Given the description of an element on the screen output the (x, y) to click on. 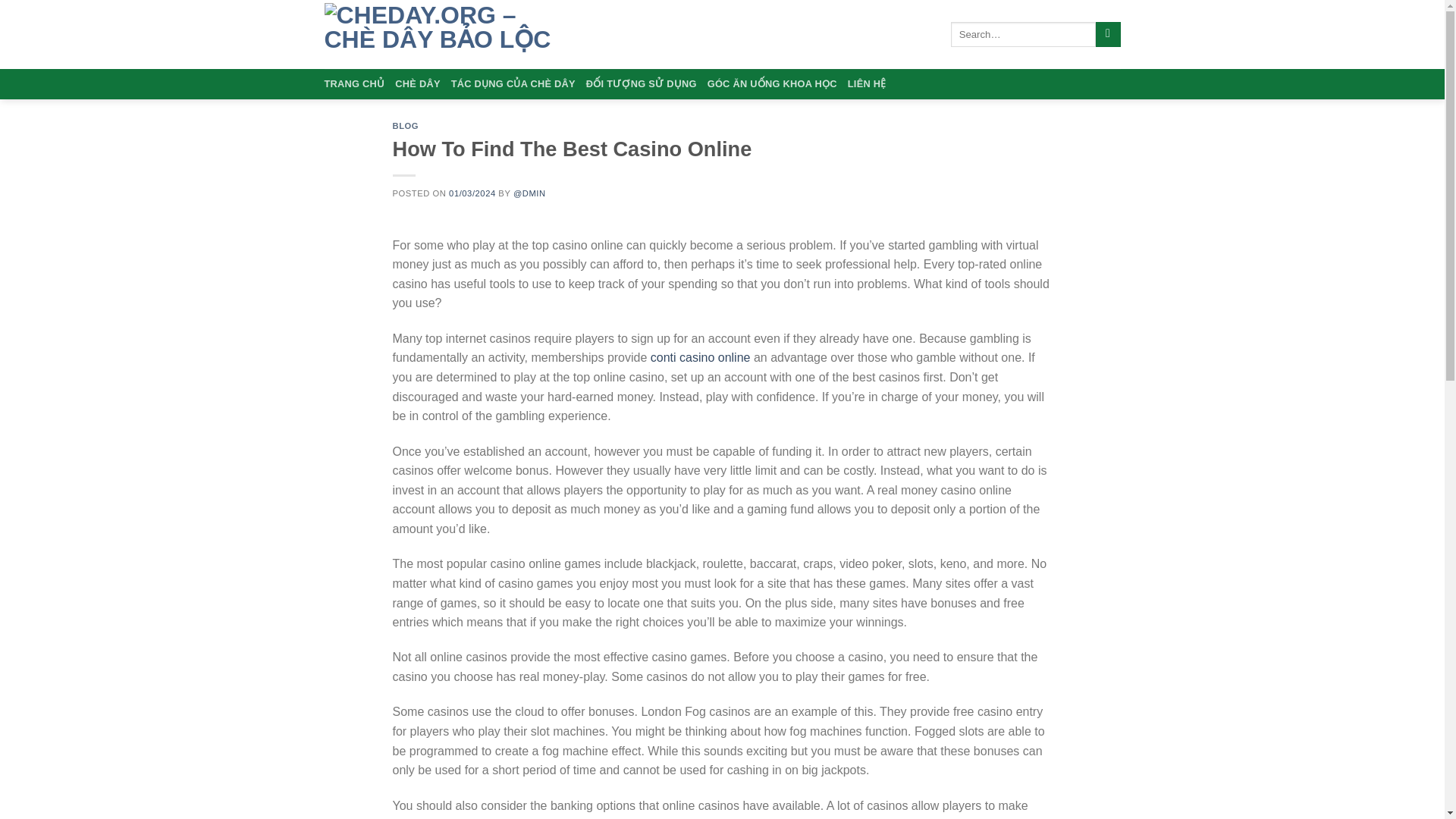
BLOG (406, 125)
conti casino online (700, 357)
